Given the description of an element on the screen output the (x, y) to click on. 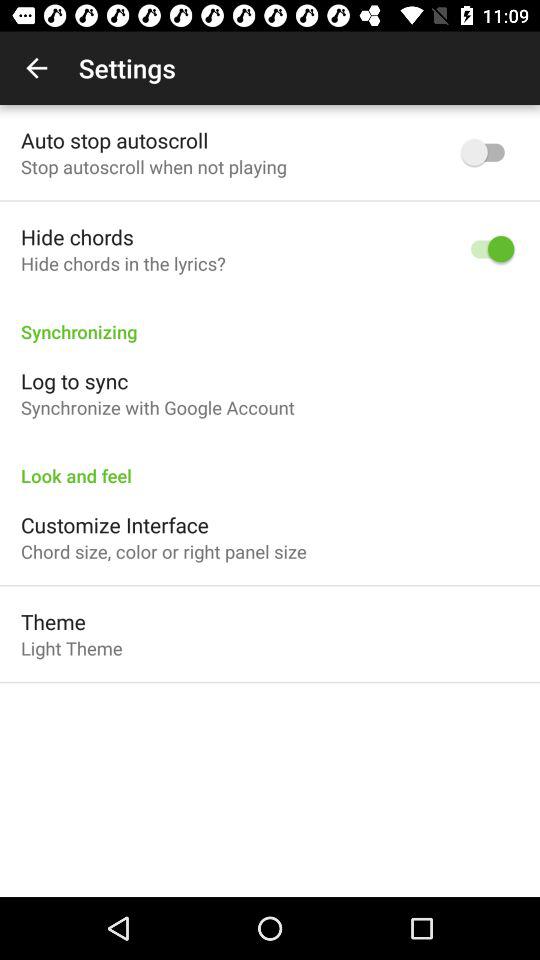
turn on icon above log to sync (270, 321)
